Given the description of an element on the screen output the (x, y) to click on. 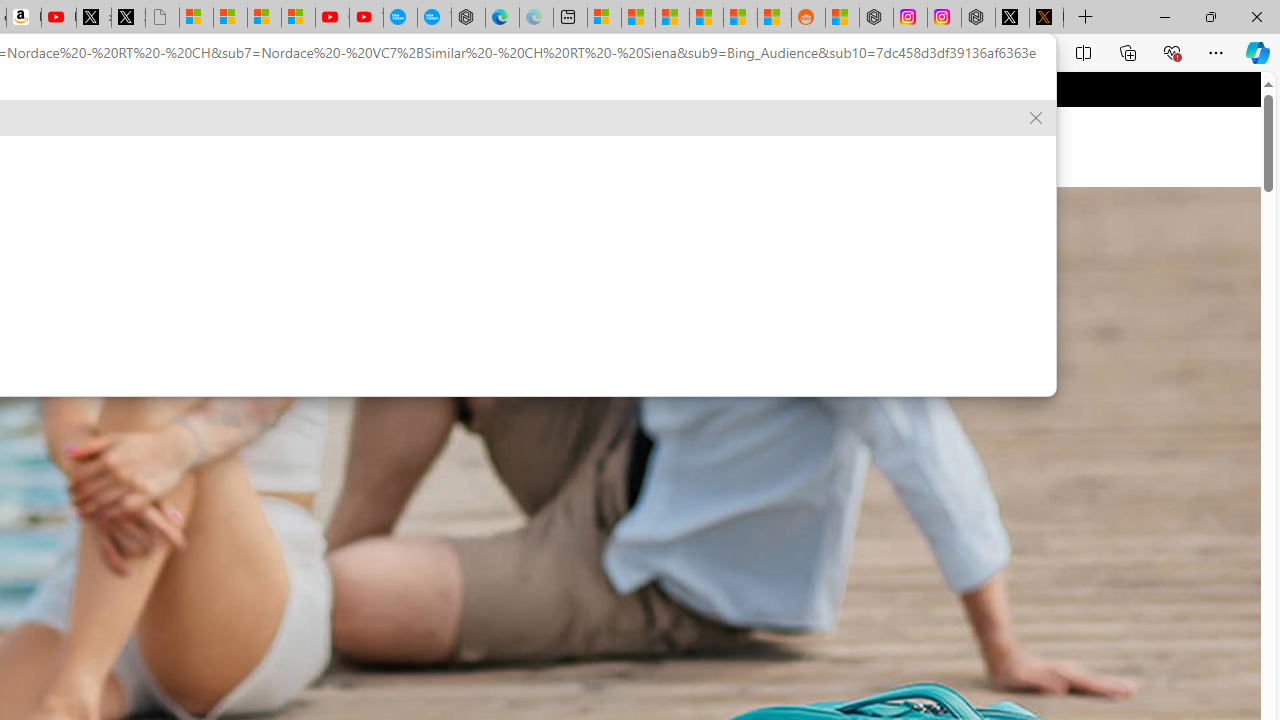
Remove suggestion (1036, 117)
Untitled (162, 17)
